Given the description of an element on the screen output the (x, y) to click on. 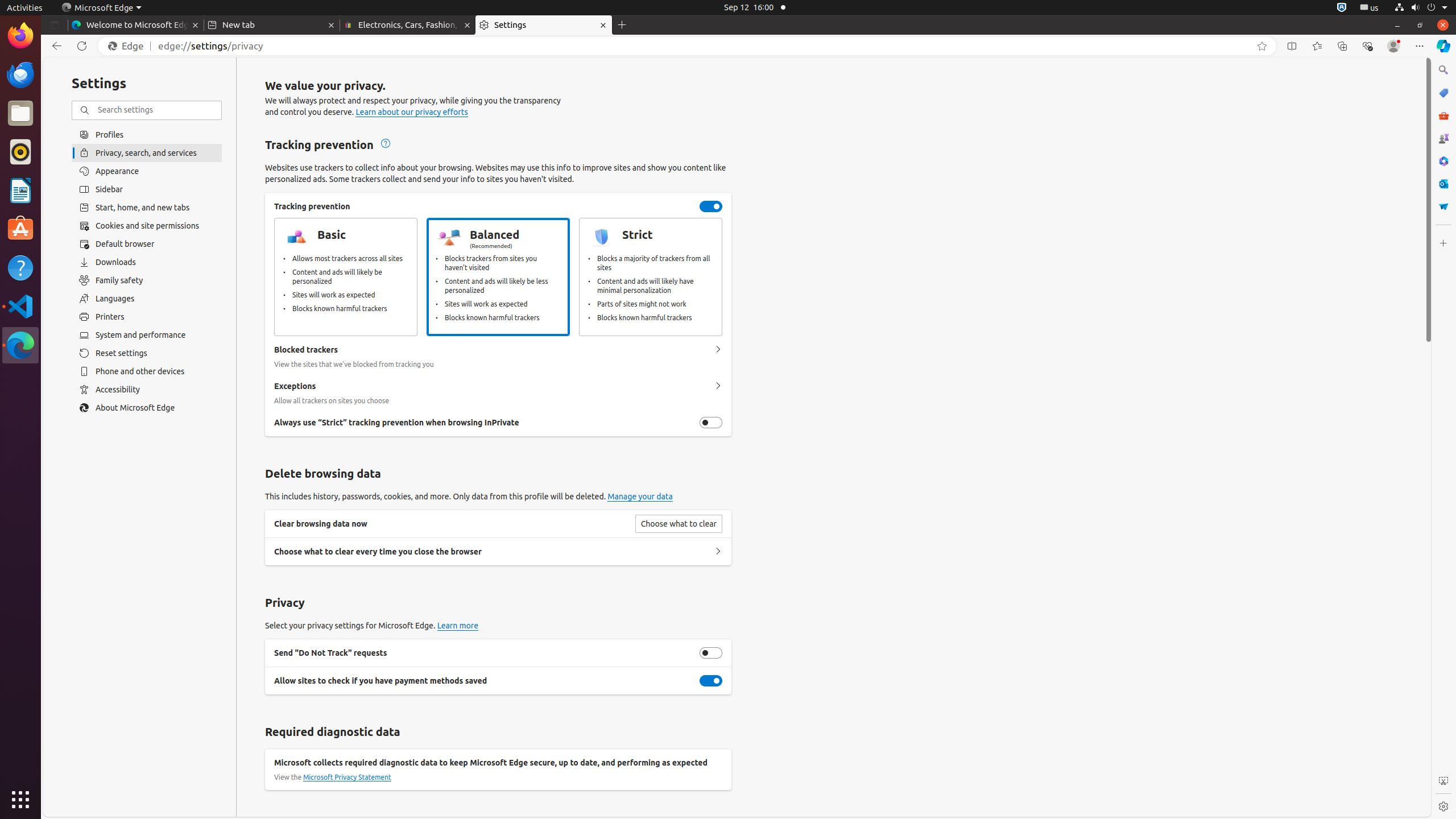
Strict Blocks a majority of trackers from all sites Content and ads will likely have minimal personalization Parts of sites might not work Blocks known harmful trackers Element type: radio-button (650, 276)
Downloads Element type: tree-item (146, 262)
System and performance Element type: tree-item (146, 334)
Firefox Web Browser Element type: push-button (20, 35)
Games Element type: push-button (1443, 137)
